Given the description of an element on the screen output the (x, y) to click on. 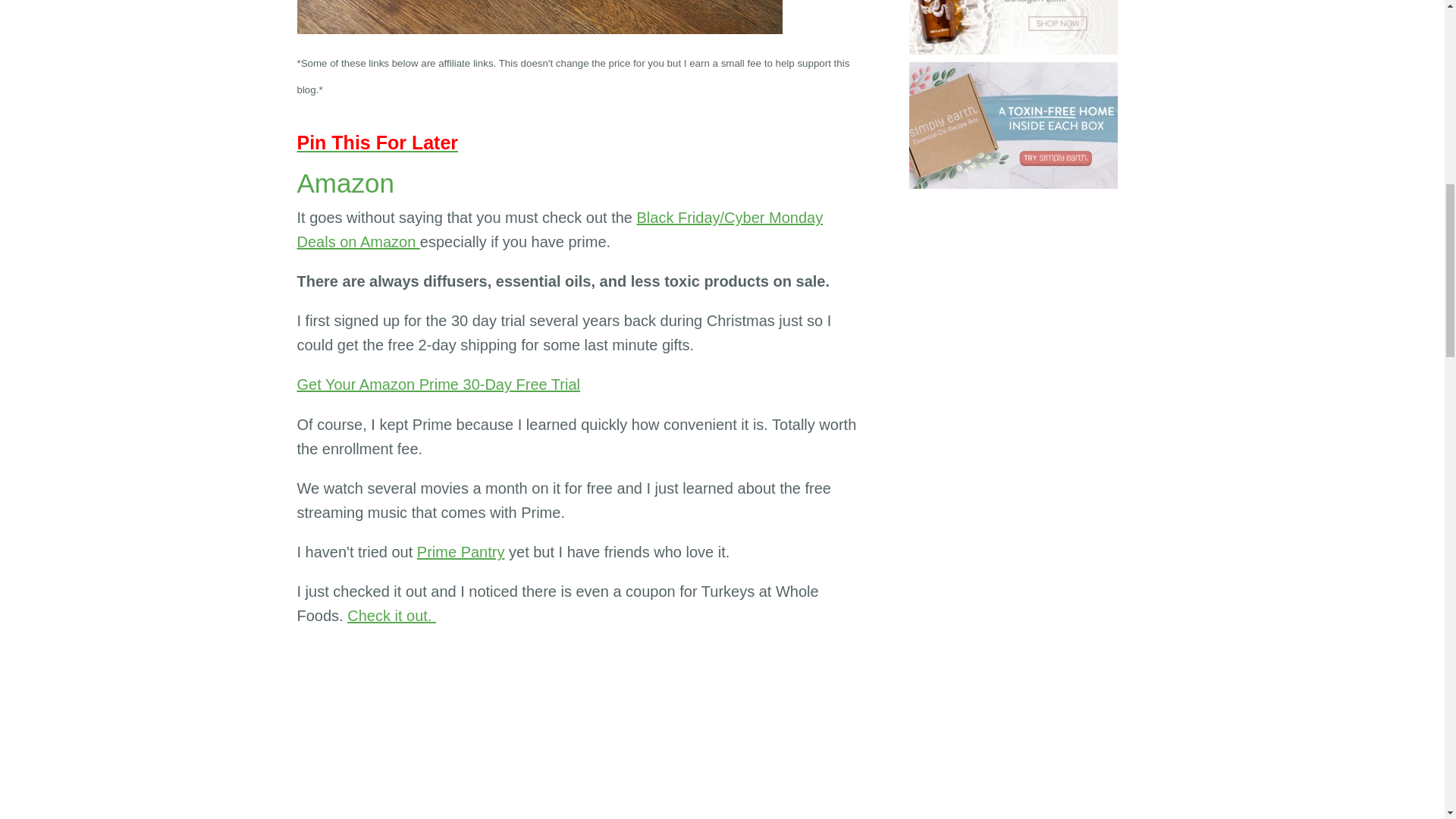
Check it out.  (391, 615)
Prime Pantry (460, 551)
Get Your Amazon Prime 30-Day Free Trial (438, 384)
Pin This For Later (377, 142)
